Given the description of an element on the screen output the (x, y) to click on. 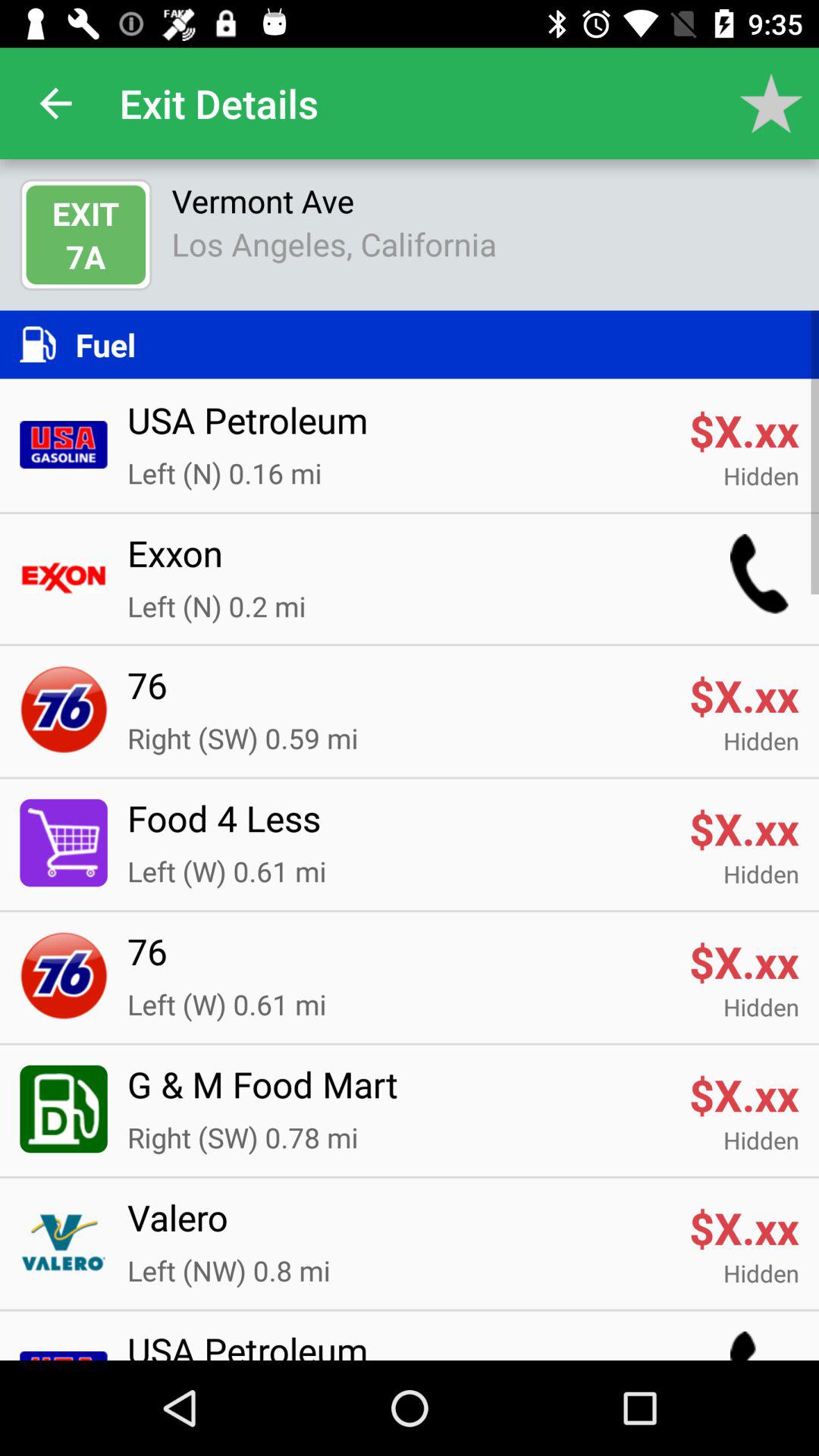
open item below hidden item (398, 562)
